Given the description of an element on the screen output the (x, y) to click on. 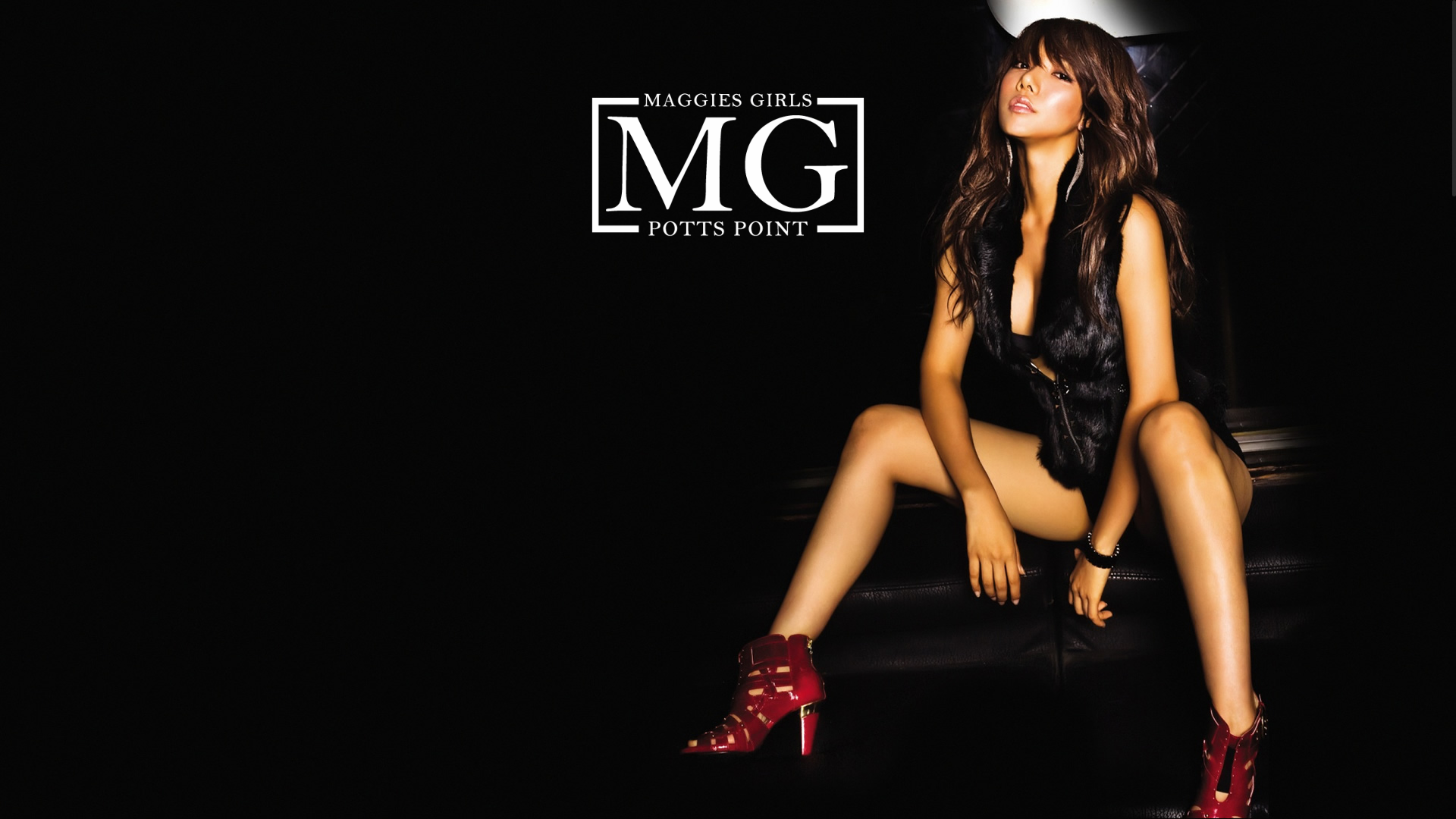
Skip to content Element type: text (0, 0)
